Given the description of an element on the screen output the (x, y) to click on. 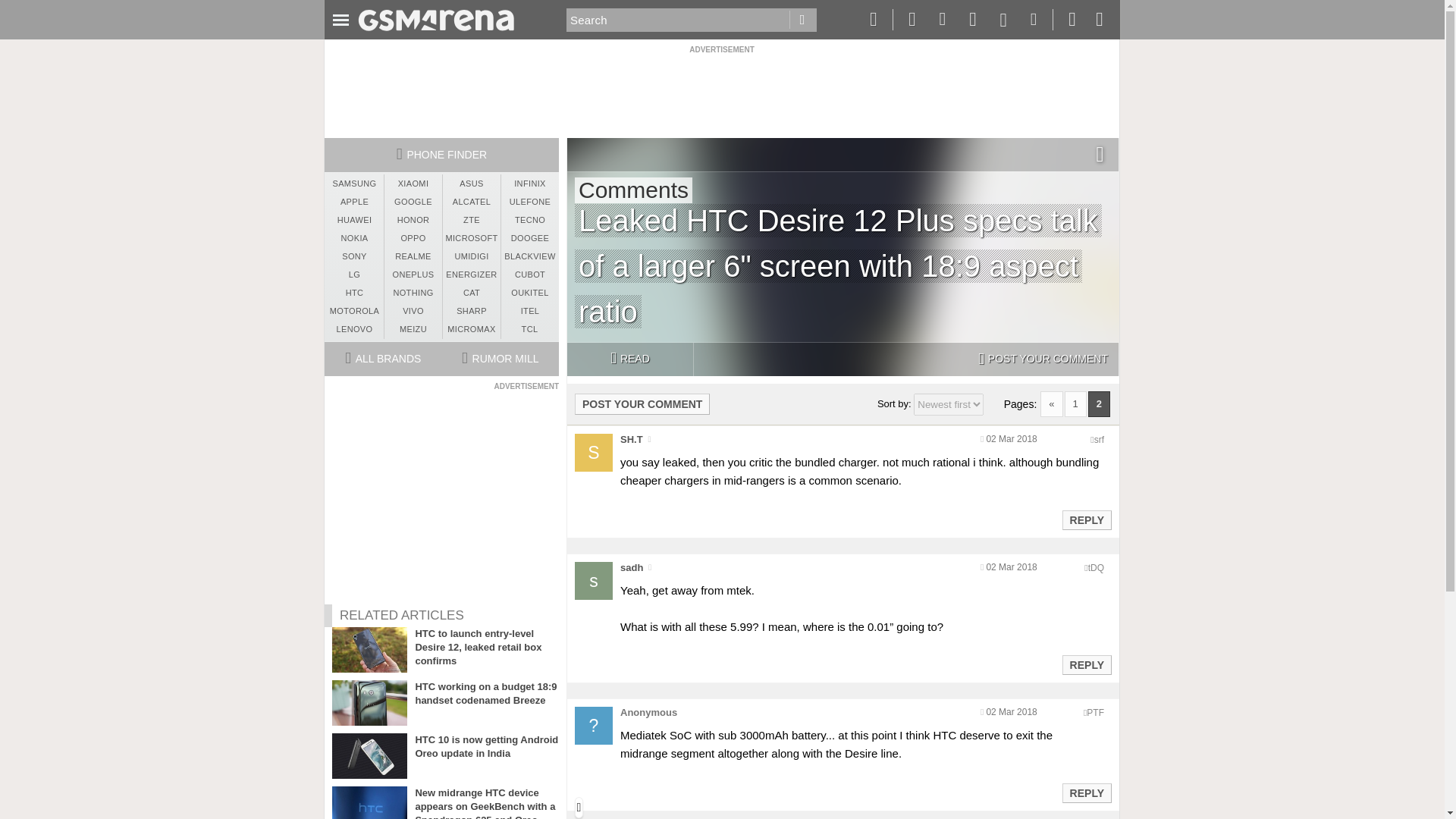
Sort comments by (949, 404)
sadh (631, 567)
POST YOUR COMMENT (642, 403)
Encoded anonymized location (1094, 712)
REPLY (1086, 665)
SH.T (631, 439)
Reply to this post (1086, 664)
Go (802, 19)
Go (802, 19)
Reply to this post (1086, 520)
POST YOUR COMMENT (1042, 359)
Encoded anonymized location (1095, 567)
Reply to this post (1086, 793)
REPLY (1086, 520)
Encoded anonymized location (1098, 439)
